Given the description of an element on the screen output the (x, y) to click on. 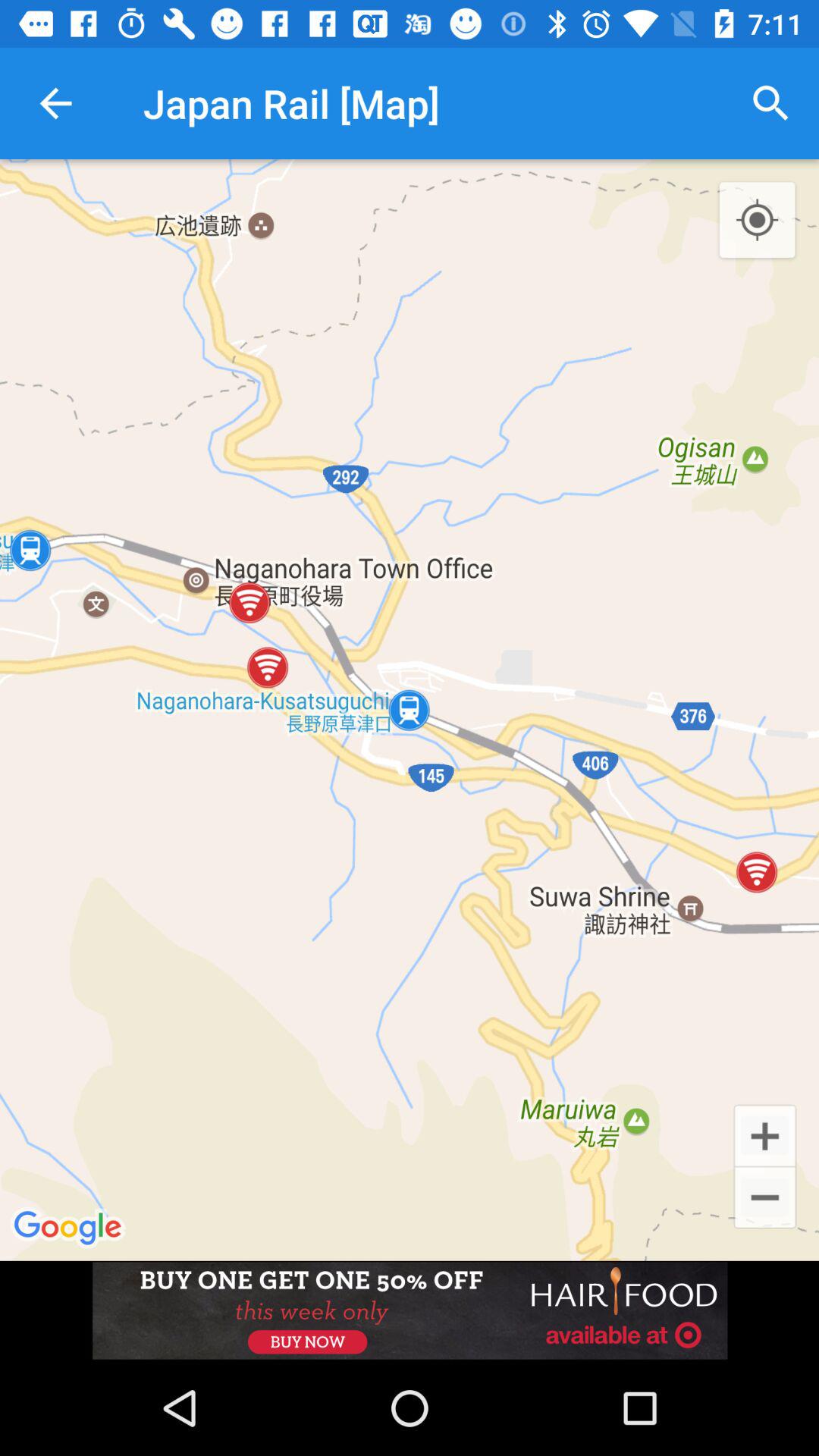
advertisement (409, 1310)
